Given the description of an element on the screen output the (x, y) to click on. 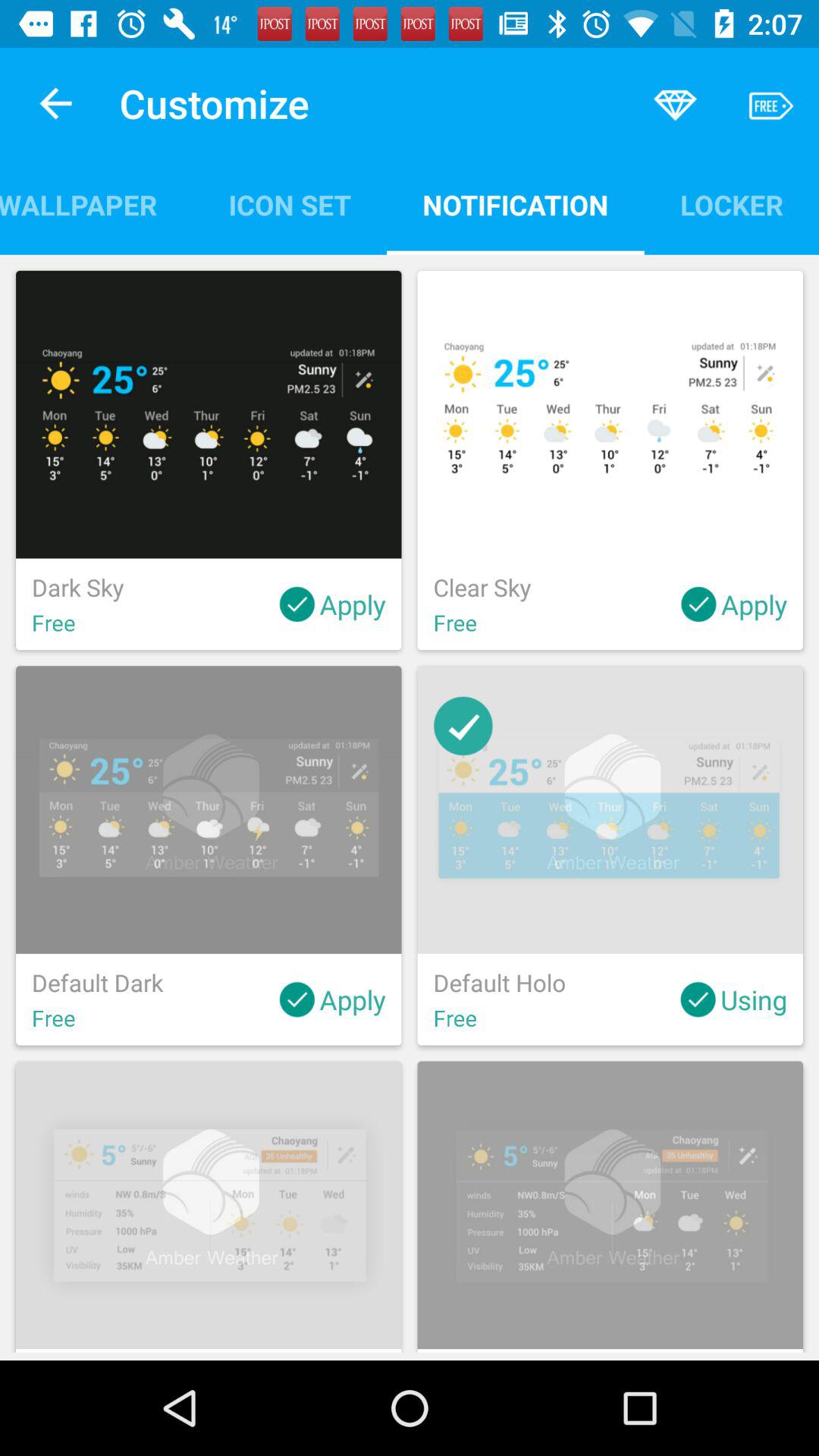
click on locker right to notification (731, 204)
click on the first image in the first row (208, 414)
click on first pic in second row (208, 855)
click on apply right to dark sky (332, 604)
click on icon set below customize (289, 204)
click on the second image in the second row (610, 809)
